Given the description of an element on the screen output the (x, y) to click on. 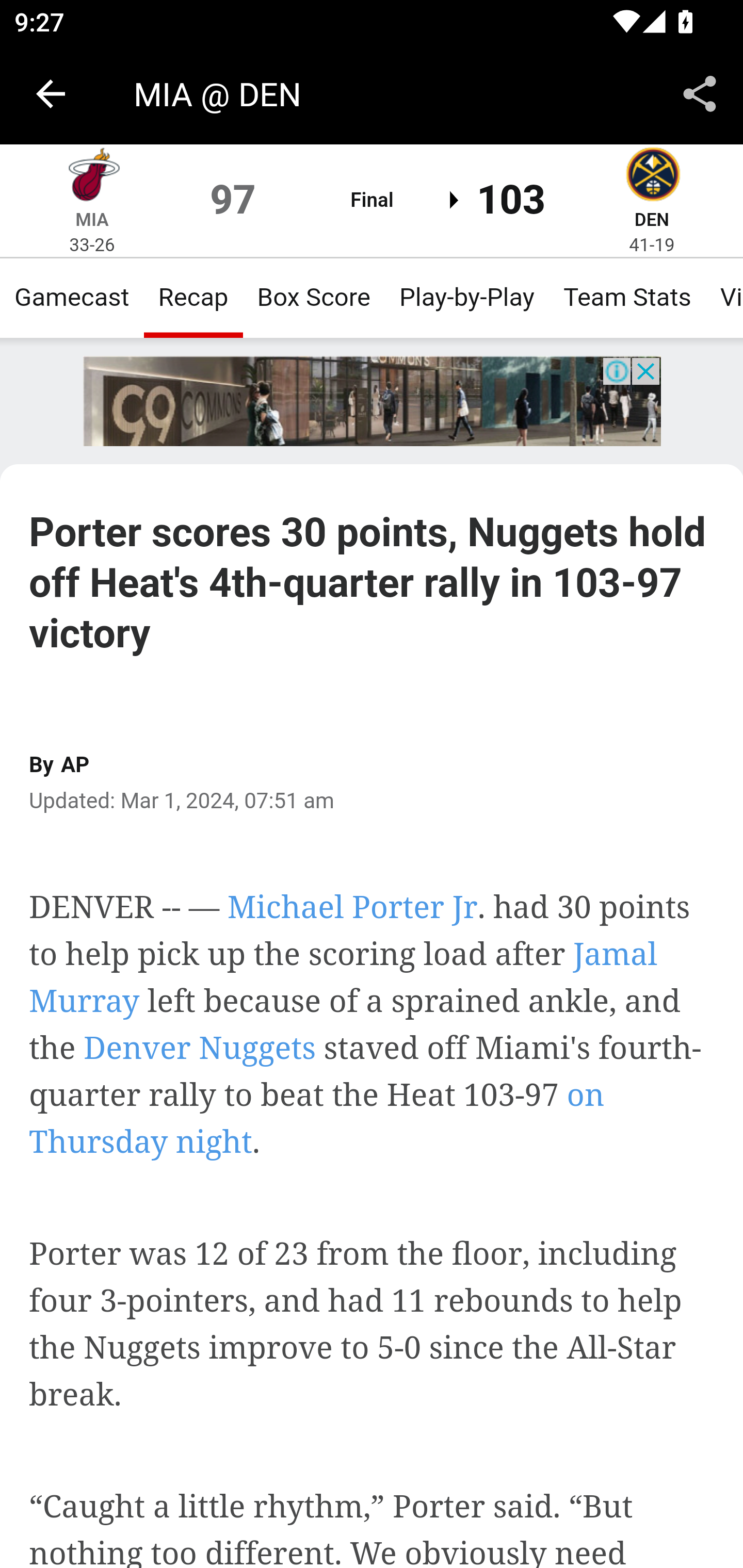
Navigate up (50, 93)
Share (699, 93)
Miami Heat (91, 177)
Denver Nuggets (651, 177)
MIA (91, 219)
DEN (651, 219)
Gamecast (72, 296)
Recap (192, 296)
Box Score (314, 296)
Play-by-Play (466, 296)
Team Stats (627, 296)
Michael Porter Jr (351, 906)
Jamal Murray (343, 976)
Denver Nuggets (200, 1047)
on Thursday night (316, 1117)
